Given the description of an element on the screen output the (x, y) to click on. 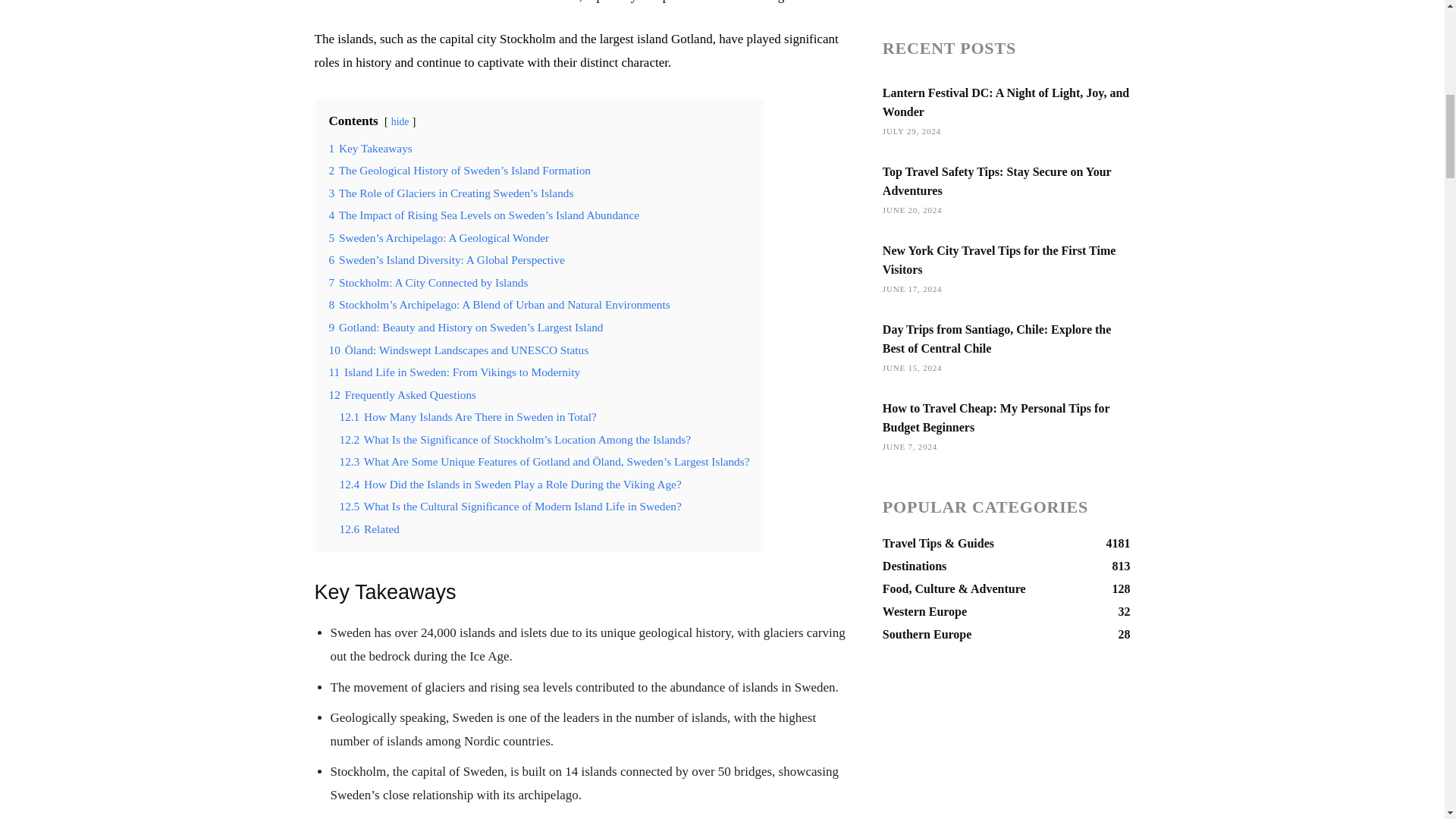
12.1 How Many Islands Are There in Sweden in Total? (467, 416)
7 Stockholm: A City Connected by Islands (428, 282)
hide (400, 121)
11 Island Life in Sweden: From Vikings to Modernity (454, 371)
1 Key Takeaways (370, 147)
12 Frequently Asked Questions (402, 394)
